Given the description of an element on the screen output the (x, y) to click on. 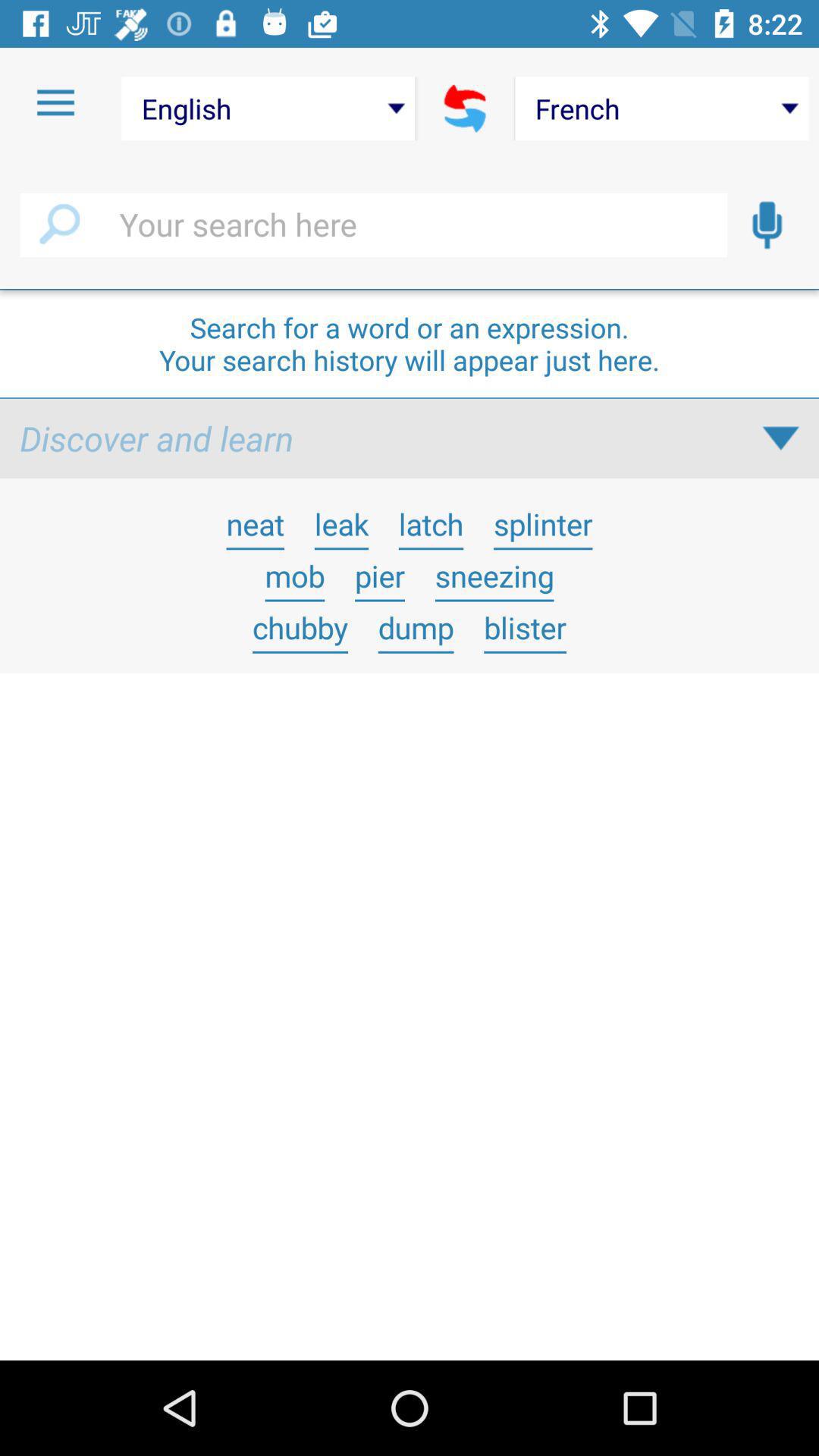
launch item next to pier icon (294, 575)
